Given the description of an element on the screen output the (x, y) to click on. 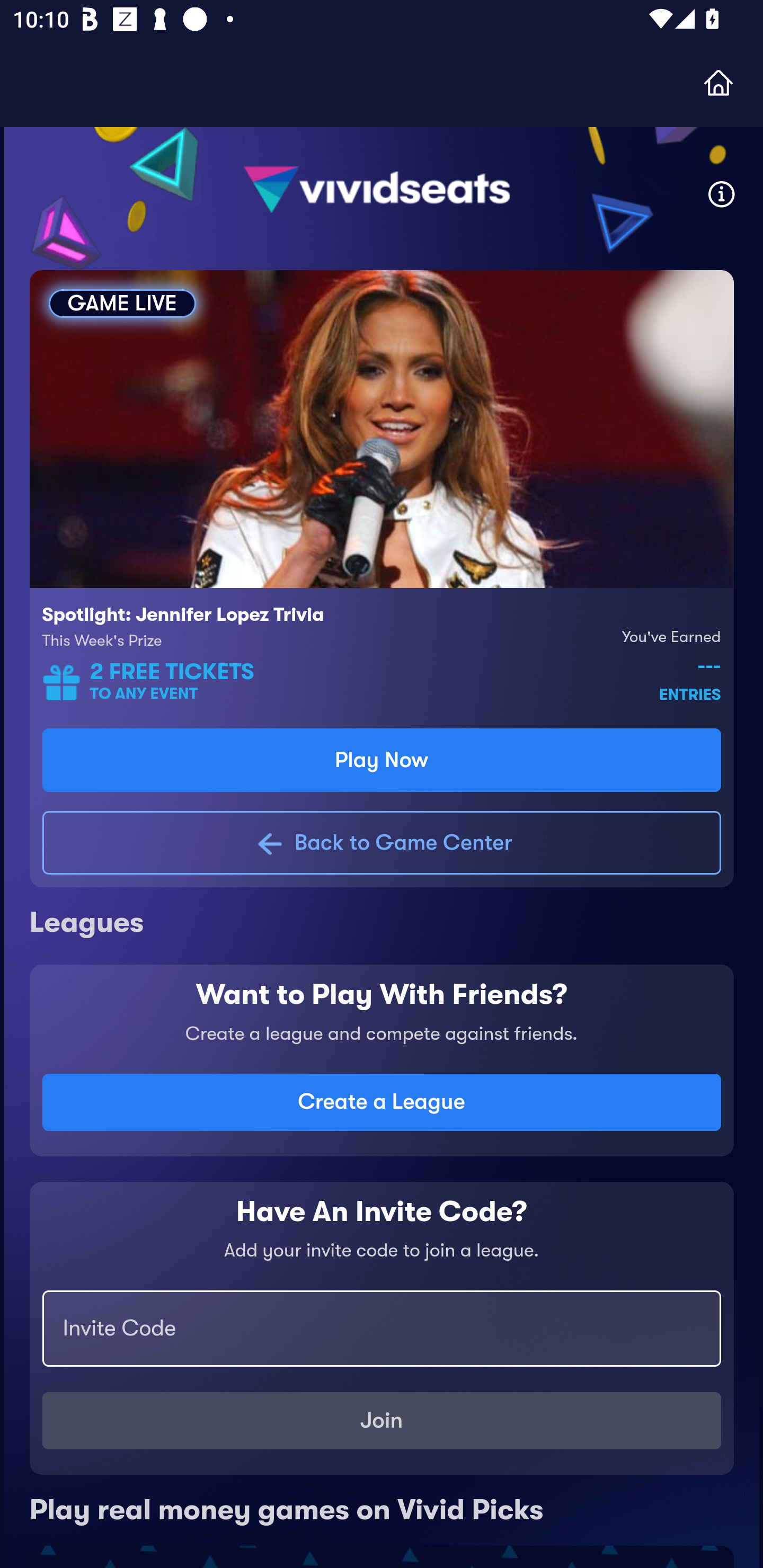
Play Now (381, 760)
 Back to Game Center (381, 842)
Create a League (381, 1102)
